Given the description of an element on the screen output the (x, y) to click on. 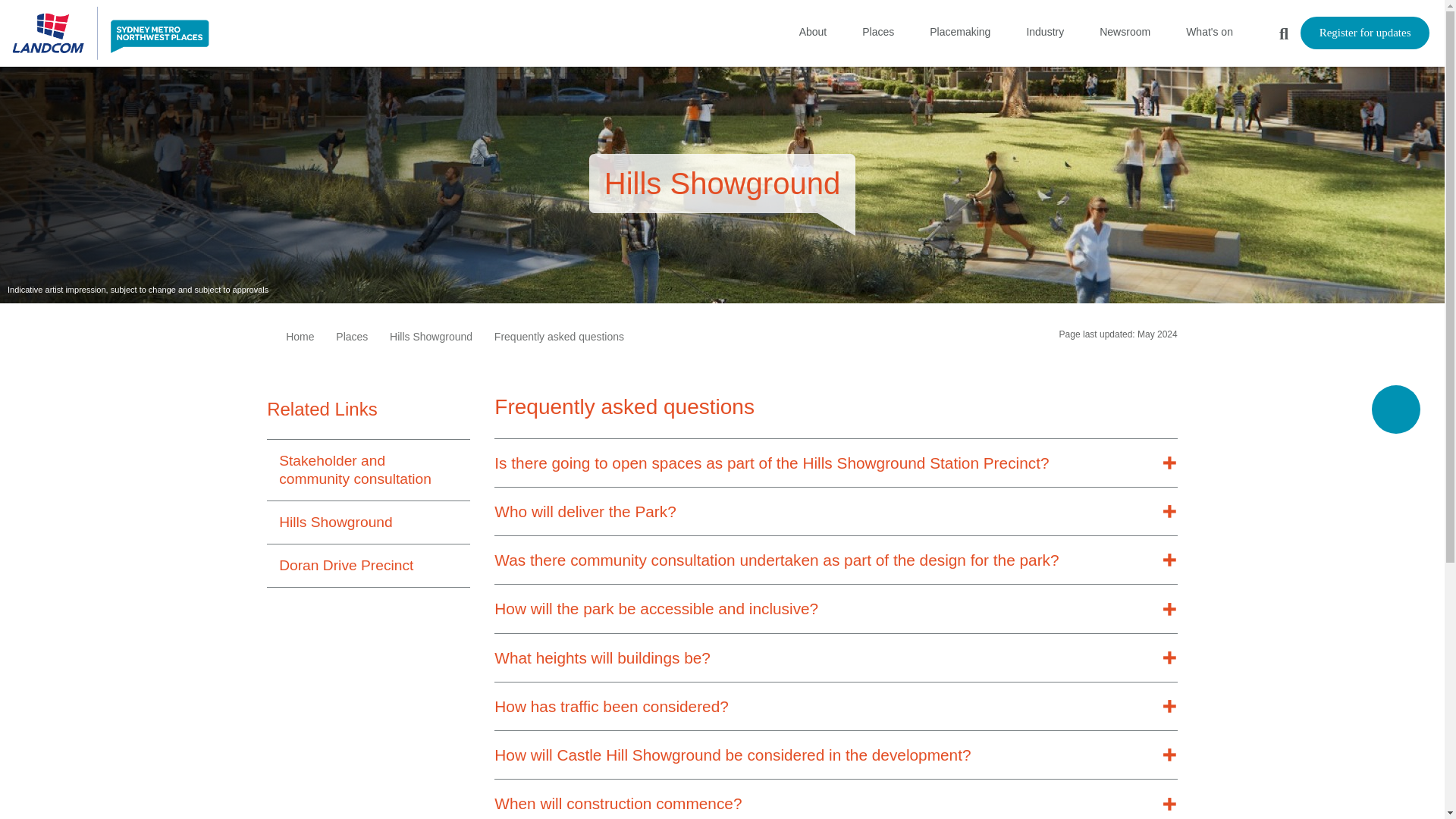
Open sub items (1162, 31)
Open sub items (1245, 29)
Placemaking (957, 31)
Open sub items (1162, 29)
Open sub items (906, 31)
Open sub items (1075, 31)
About (810, 31)
Open sub items (1075, 29)
Open sub items (906, 29)
Go to the home page (110, 32)
Open sub items (838, 29)
Open sub items (838, 31)
Open sub items (1002, 29)
Places (876, 31)
What's on (1207, 31)
